Given the description of an element on the screen output the (x, y) to click on. 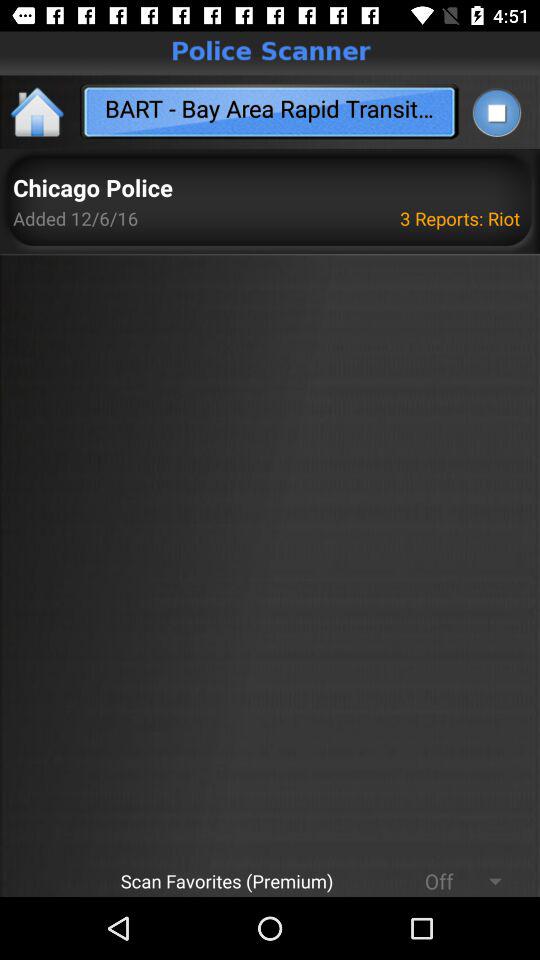
press icon above 3 reports: riot (496, 111)
